Given the description of an element on the screen output the (x, y) to click on. 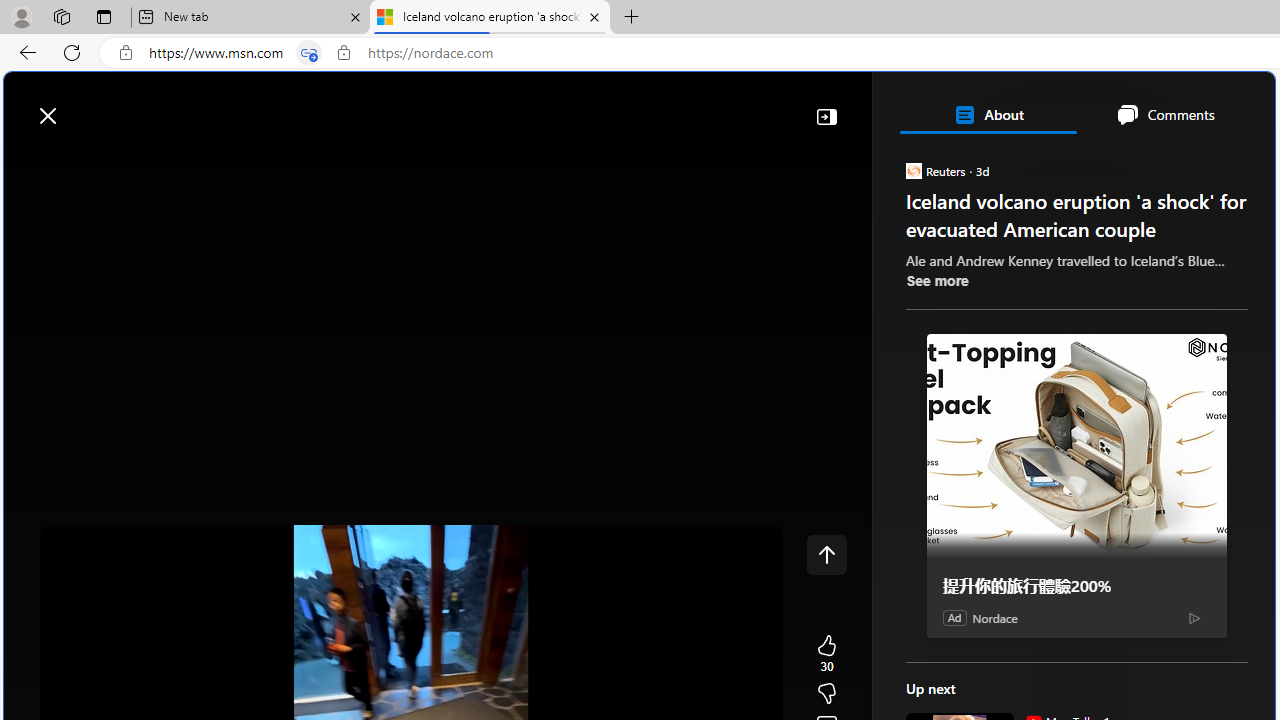
Skip to content (86, 105)
Microsoft rewards (1151, 105)
Class: control icon-only (826, 554)
